Given the description of an element on the screen output the (x, y) to click on. 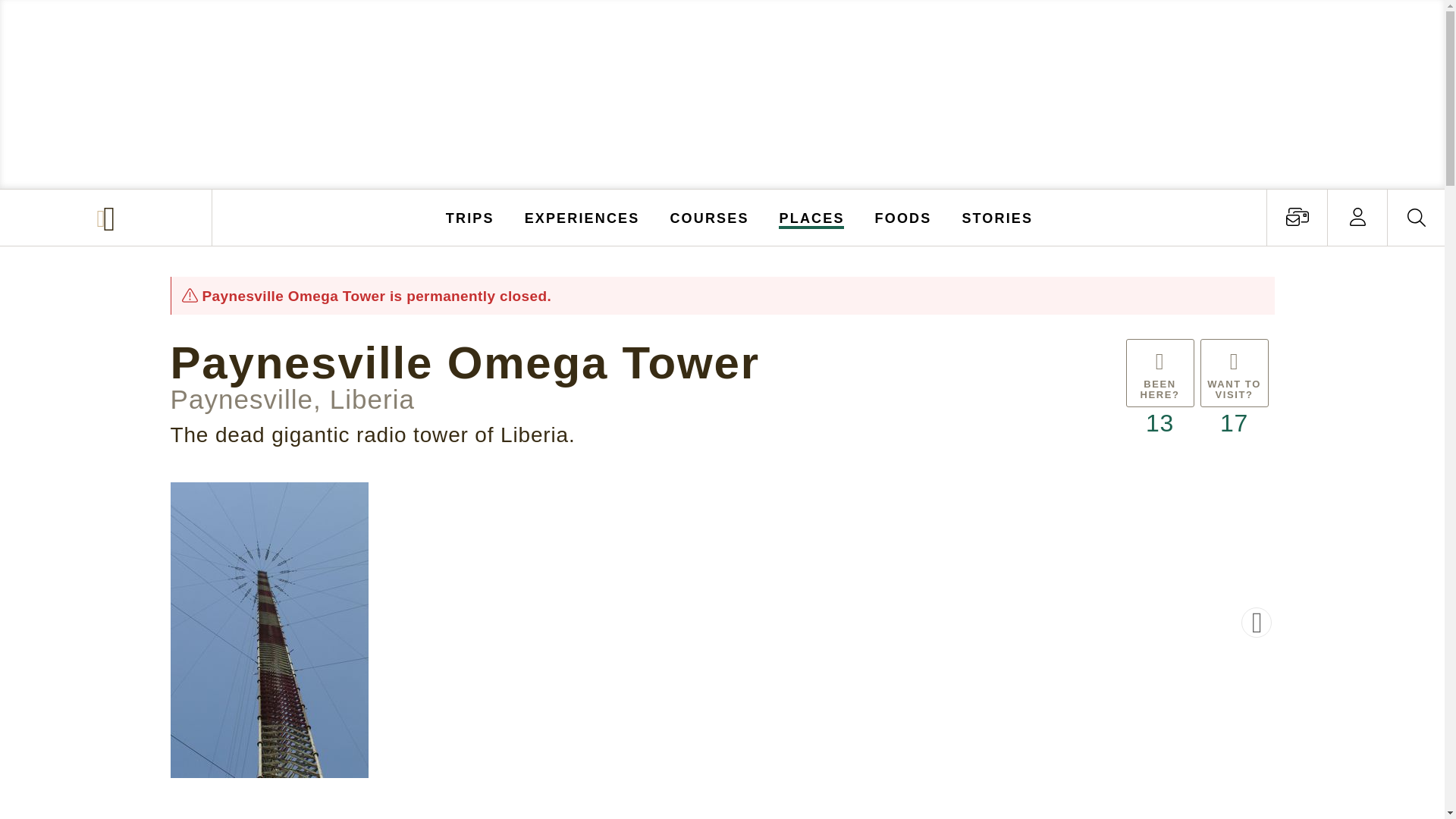
PLACES (812, 217)
COURSES (707, 217)
TRIPS (469, 217)
EXPERIENCES (582, 217)
